Given the description of an element on the screen output the (x, y) to click on. 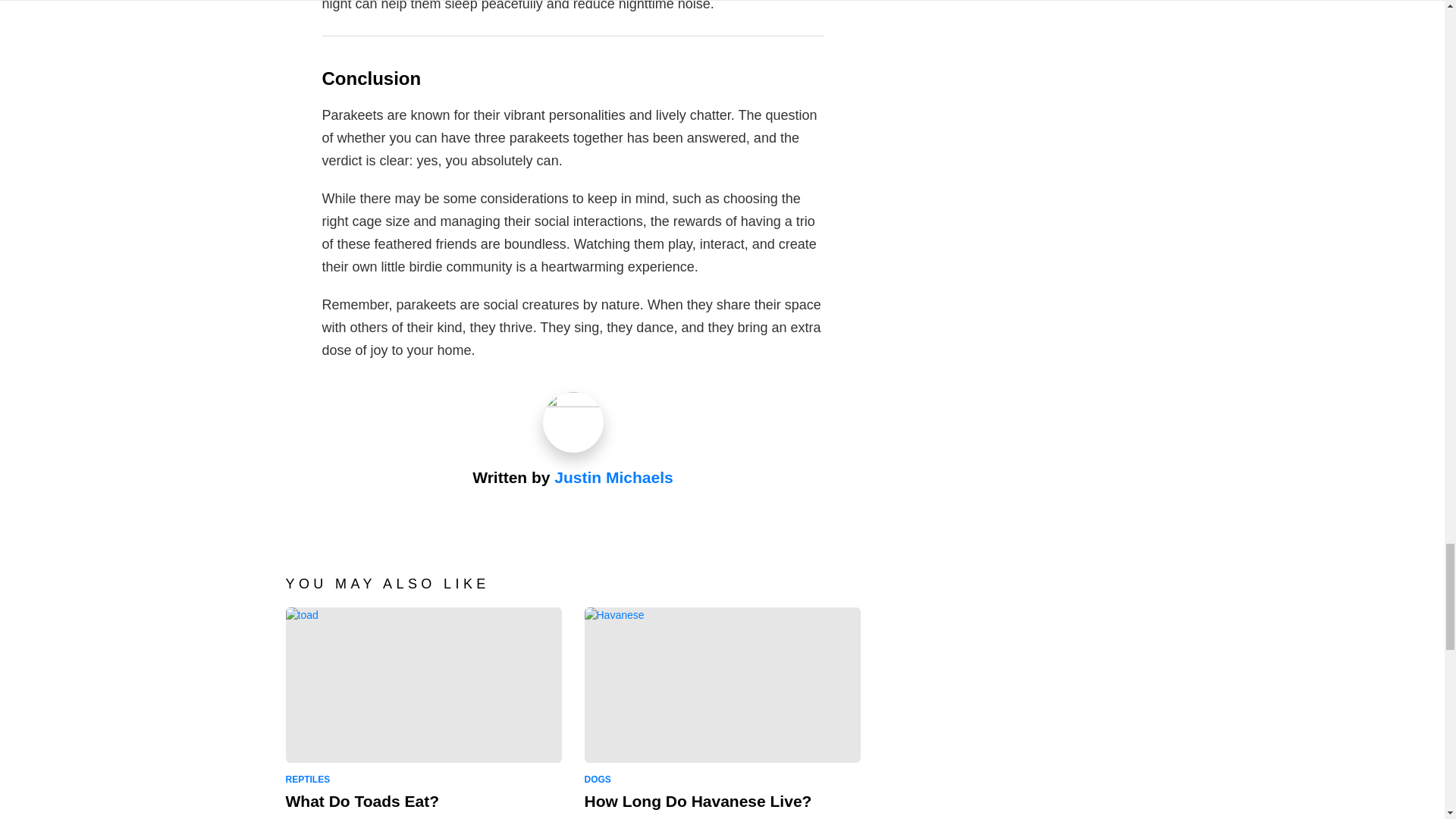
DOGS (599, 779)
What Do Toads Eat? (362, 800)
REPTILES (310, 779)
Justin Michaels (613, 477)
How Long Do Havanese Live? (696, 800)
